Given the description of an element on the screen output the (x, y) to click on. 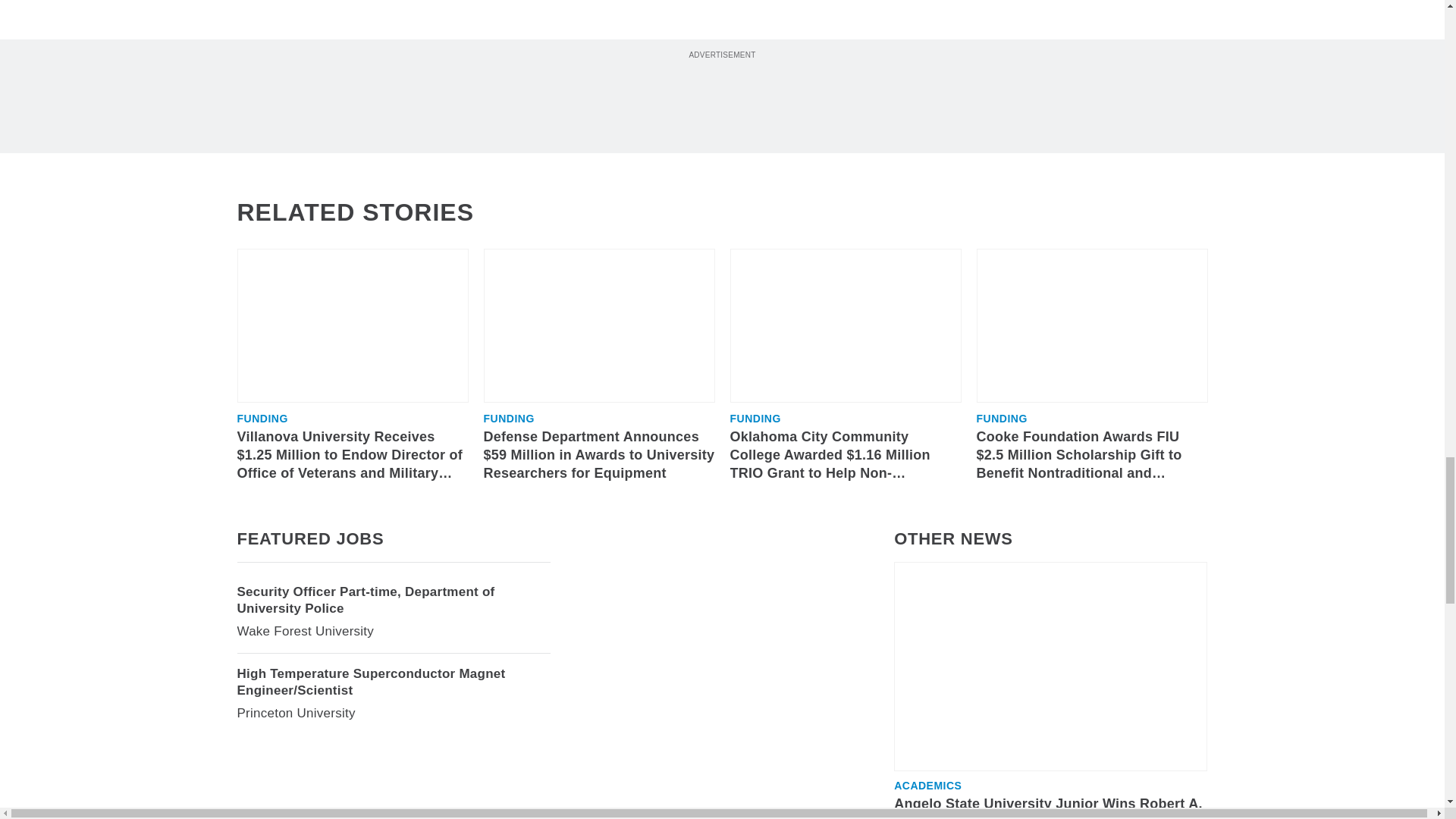
Funding (508, 418)
Funding (260, 418)
Funding (754, 418)
